Given the description of an element on the screen output the (x, y) to click on. 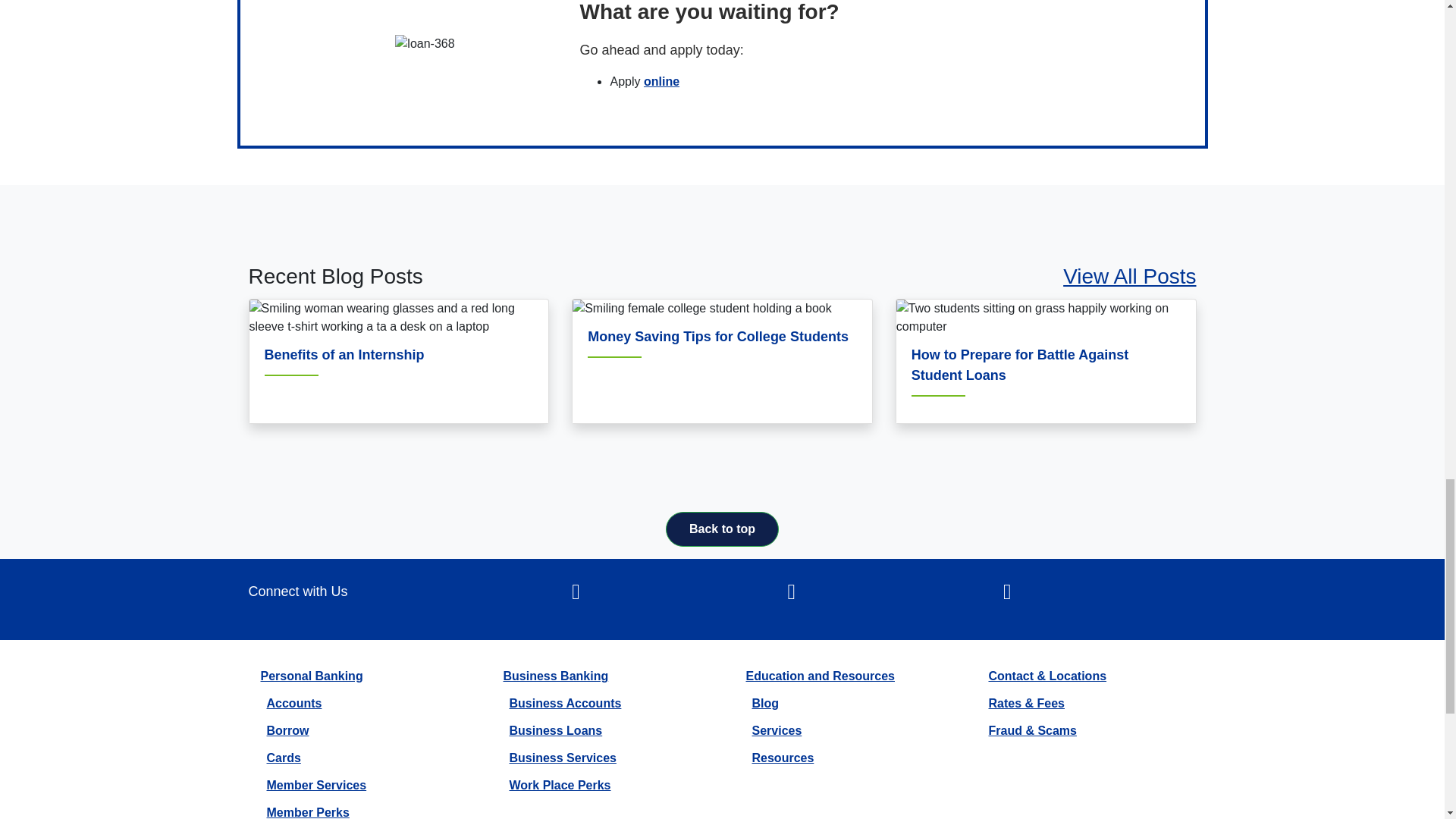
loan-368 (424, 44)
Tap or click to apply for a loan online (661, 81)
